Given the description of an element on the screen output the (x, y) to click on. 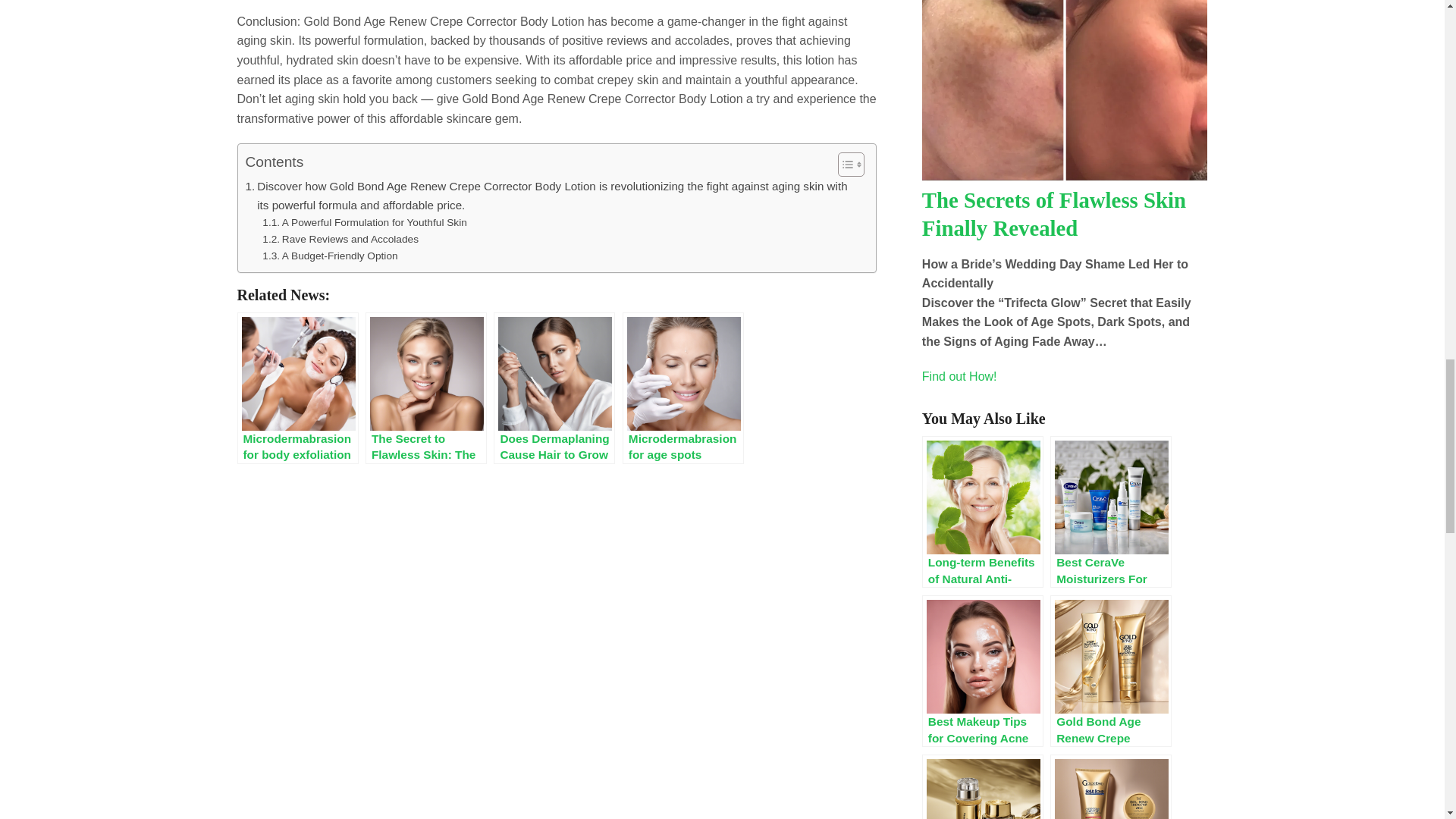
Microdermabrasion for body exfoliation Philadelphia (296, 388)
A Powerful Formulation for Youthful Skin (364, 222)
A Budget-Friendly Option (329, 256)
Rave Reviews and Accolades (340, 239)
